Given the description of an element on the screen output the (x, y) to click on. 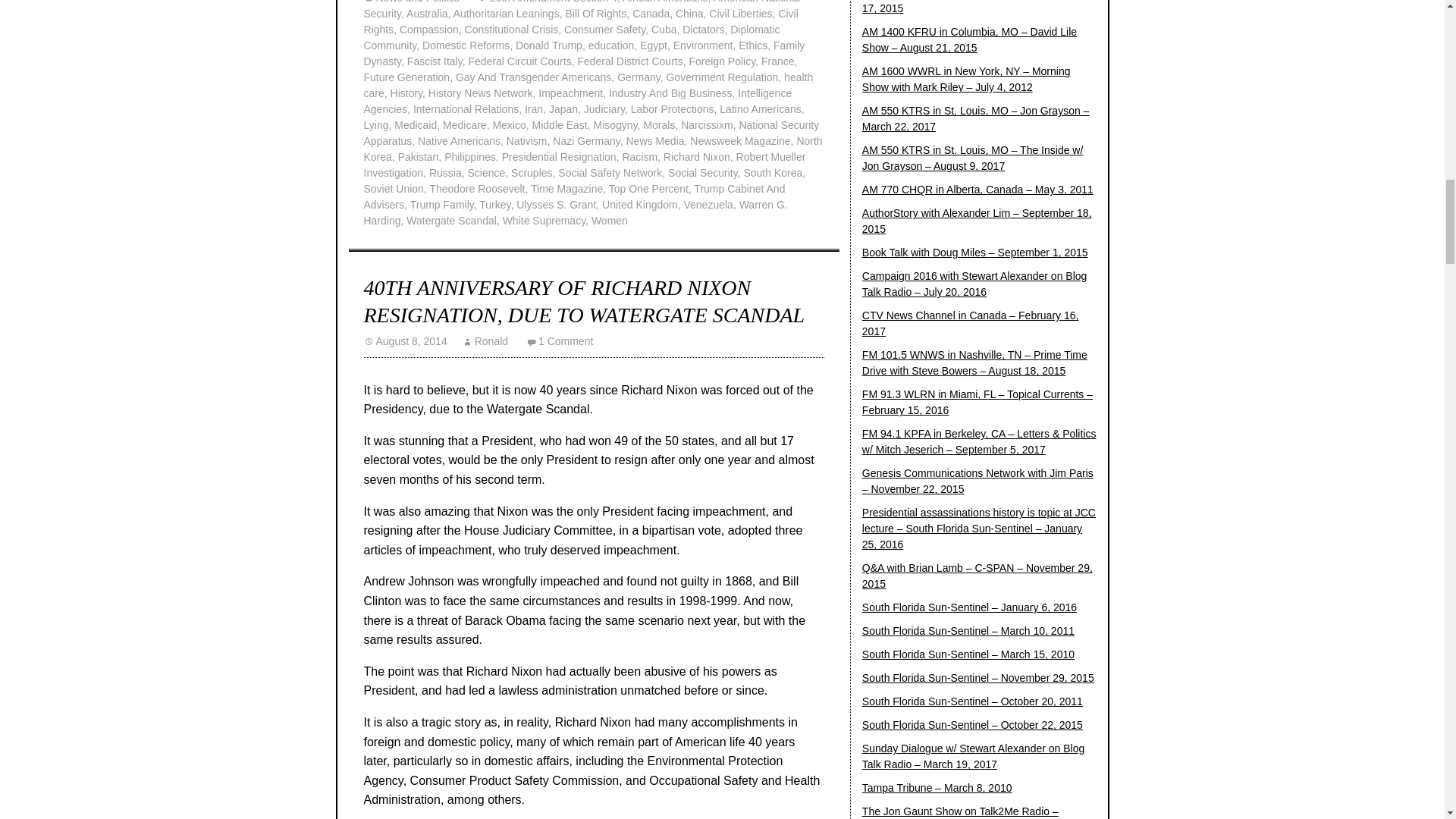
Diplomatic Community (572, 37)
Ethics (752, 45)
Domestic Reforms (465, 45)
Constitutional Crisis (511, 29)
Donald Trump (548, 45)
7:50 am (405, 340)
Australia (426, 13)
China (689, 13)
Civil Rights (580, 21)
Family Dynasty (584, 53)
Canada (650, 13)
News and Politics (412, 2)
Bill Of Rights (595, 13)
Egypt (653, 45)
education (611, 45)
